Given the description of an element on the screen output the (x, y) to click on. 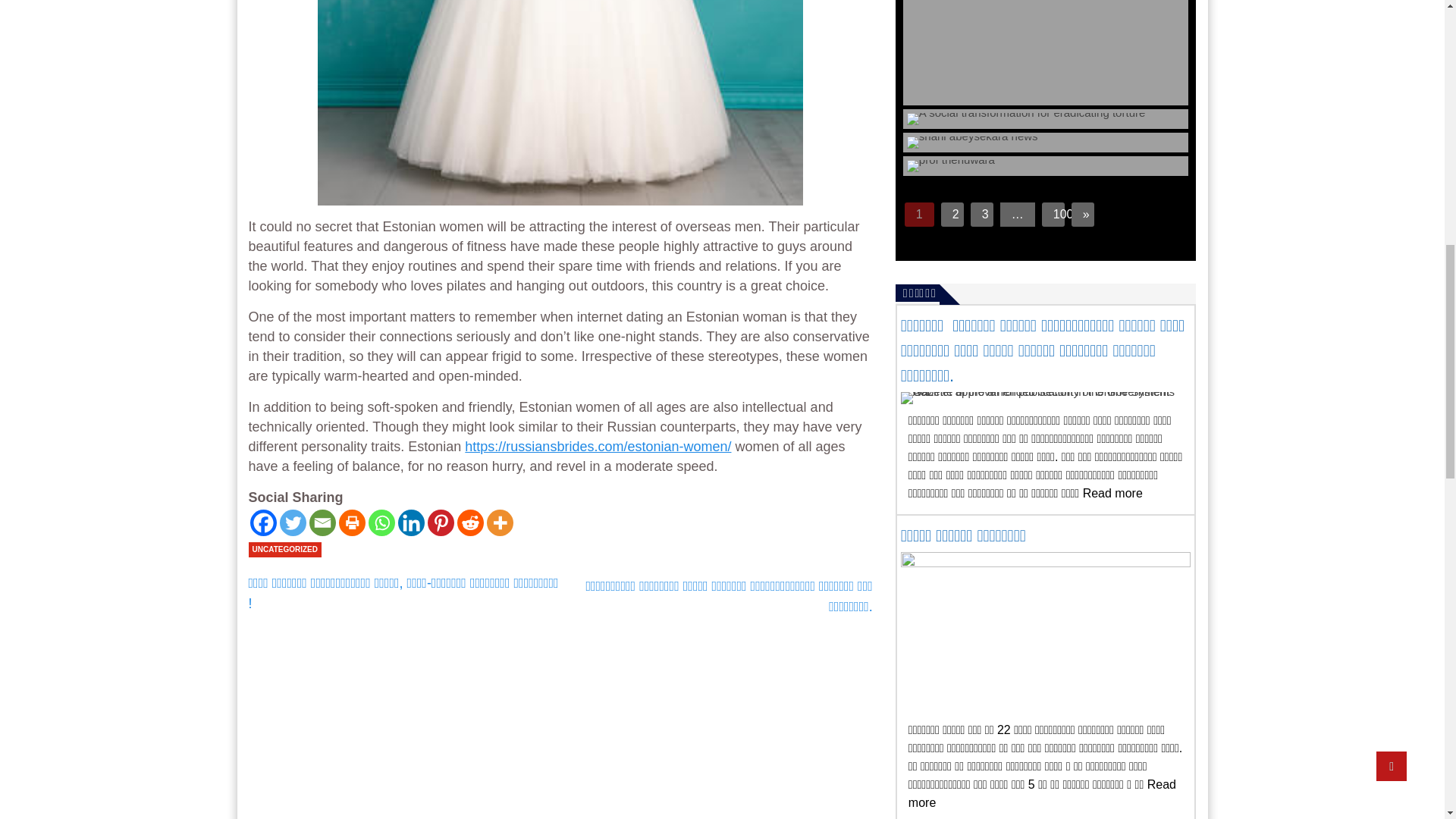
Print (351, 522)
Linkedin (410, 522)
Email (322, 522)
Pinterest (441, 522)
Reddit (470, 522)
Whatsapp (381, 522)
Facebook (263, 522)
Twitter (292, 522)
More (499, 522)
